Given the description of an element on the screen output the (x, y) to click on. 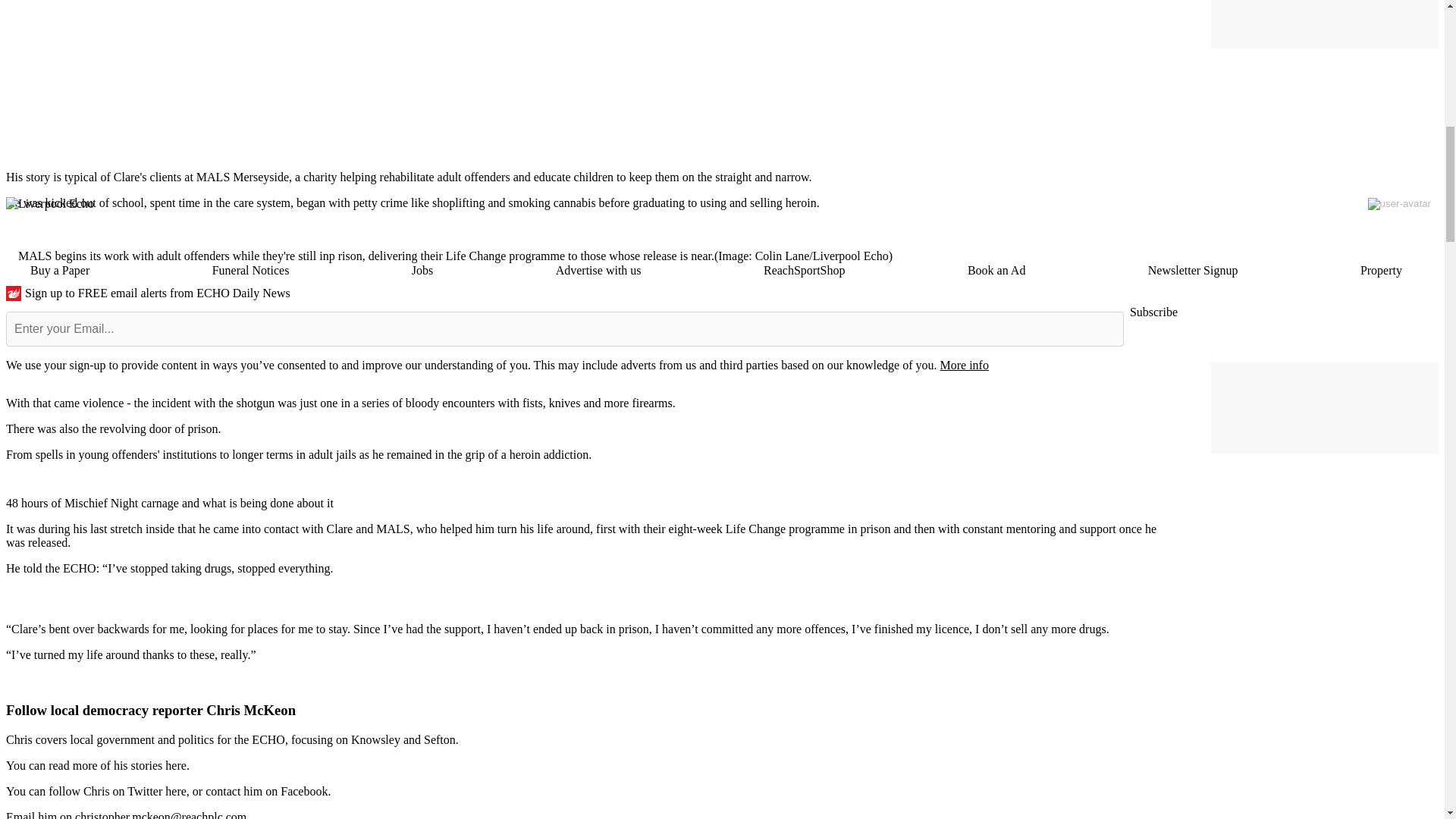
here (175, 790)
here (175, 765)
on Facebook (295, 790)
More info (963, 364)
Subscribe (1153, 312)
the ECHO (70, 567)
